Given the description of an element on the screen output the (x, y) to click on. 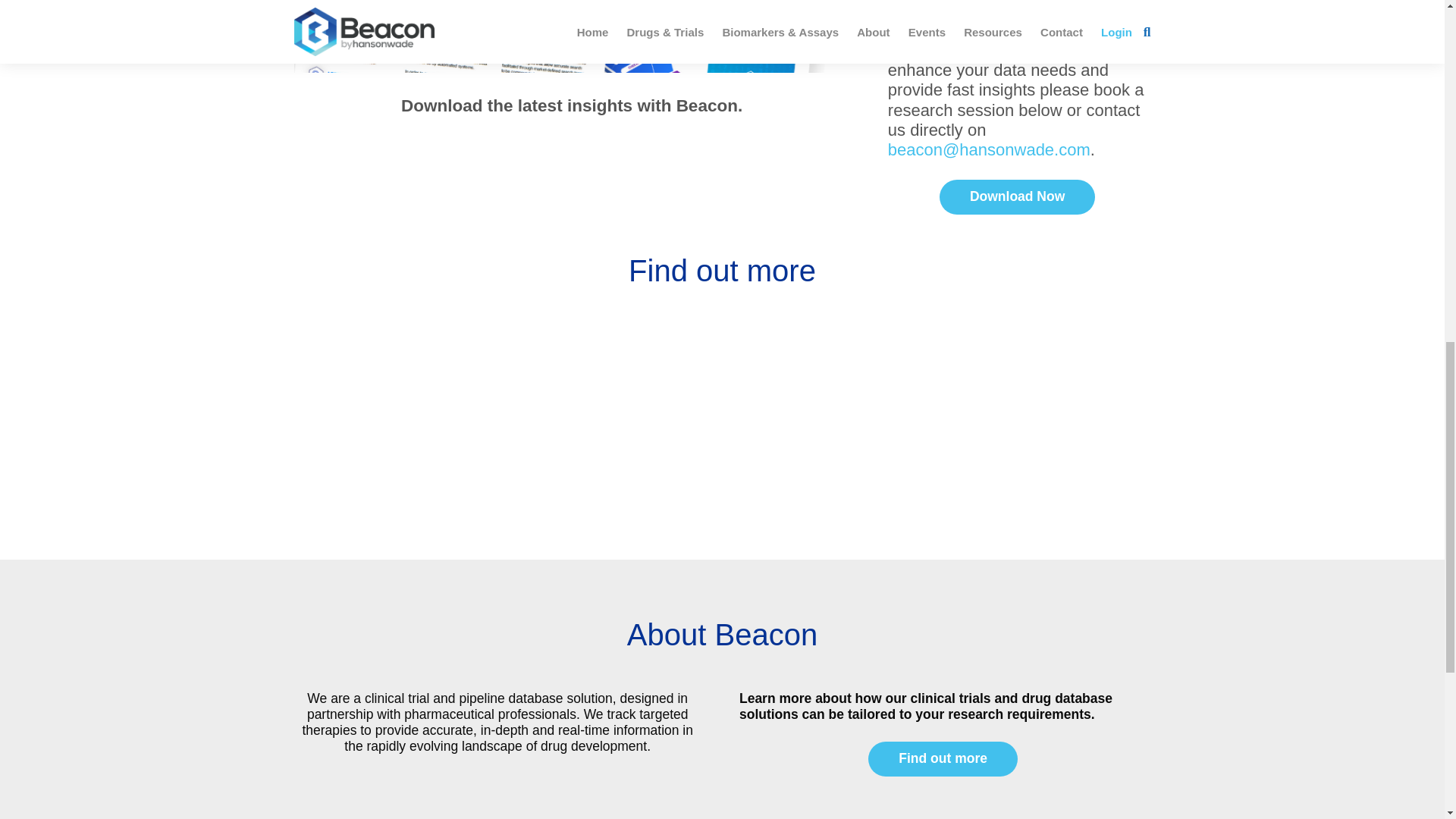
Find out more (942, 759)
Download Now (1016, 196)
